Given the description of an element on the screen output the (x, y) to click on. 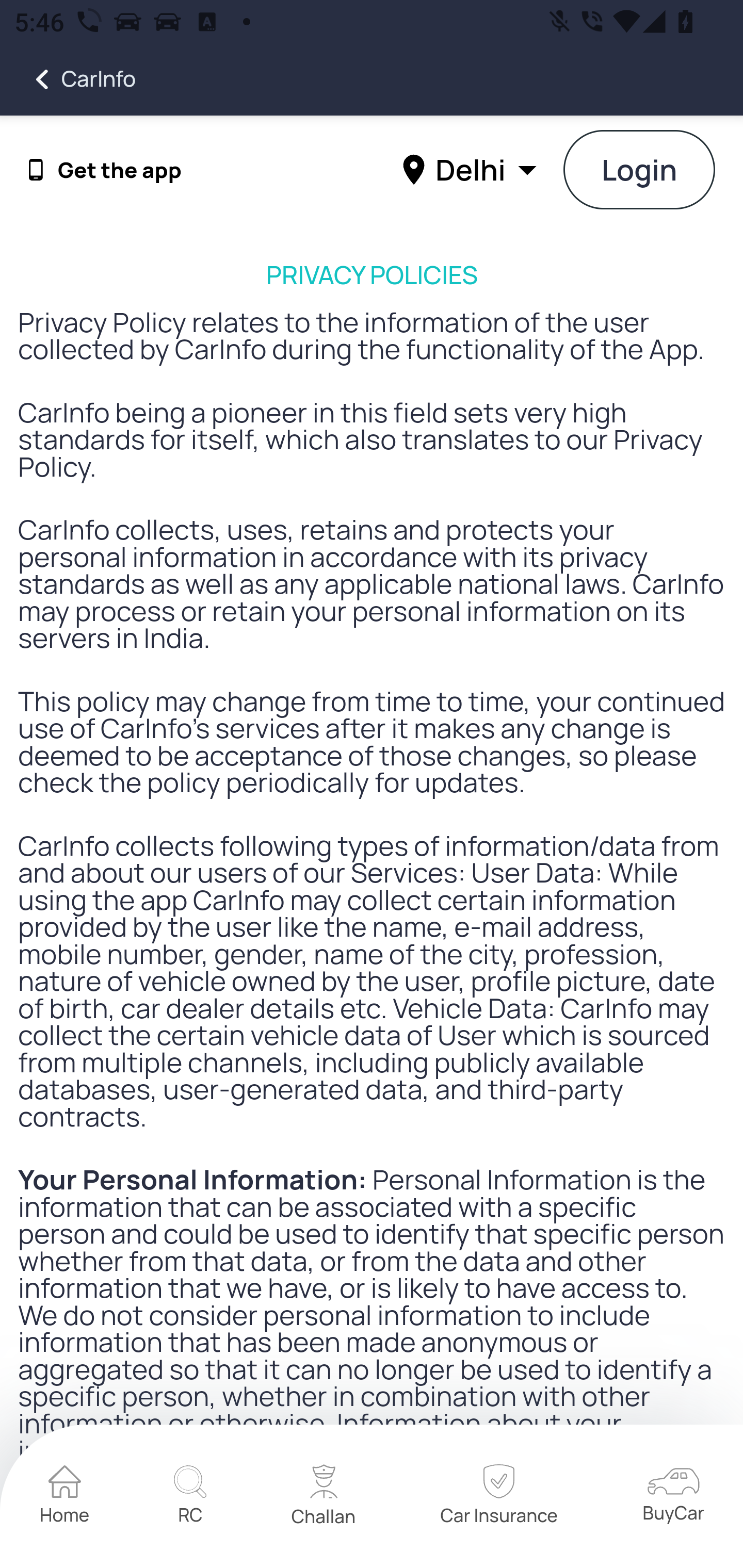
CarInfo (67, 79)
Login (639, 170)
Delhi (471, 169)
Get the app (119, 170)
home Challan home Challan (323, 1496)
home Home home Home (64, 1496)
home RC home RC (190, 1496)
home Car Insurance home Car Insurance (497, 1497)
home BuyCar home BuyCar (672, 1496)
